Given the description of an element on the screen output the (x, y) to click on. 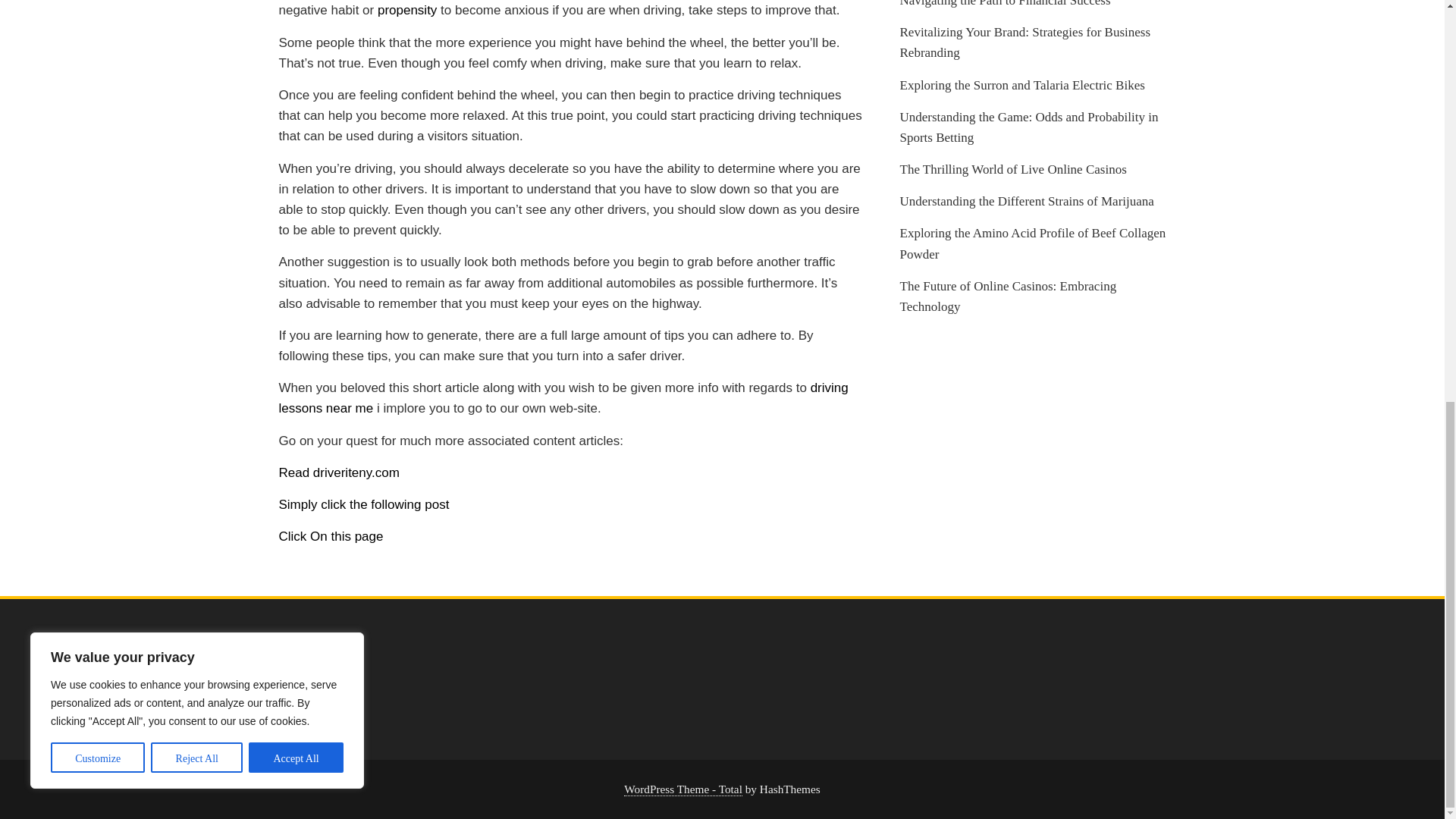
Simply click the following post (364, 504)
propensity (406, 10)
driving lessons near me (563, 397)
Exploring the Surron and Talaria Electric Bikes (1021, 84)
Read driveriteny.com (338, 472)
Revitalizing Your Brand: Strategies for Business Rebranding (1024, 42)
Click On this page (331, 536)
